Given the description of an element on the screen output the (x, y) to click on. 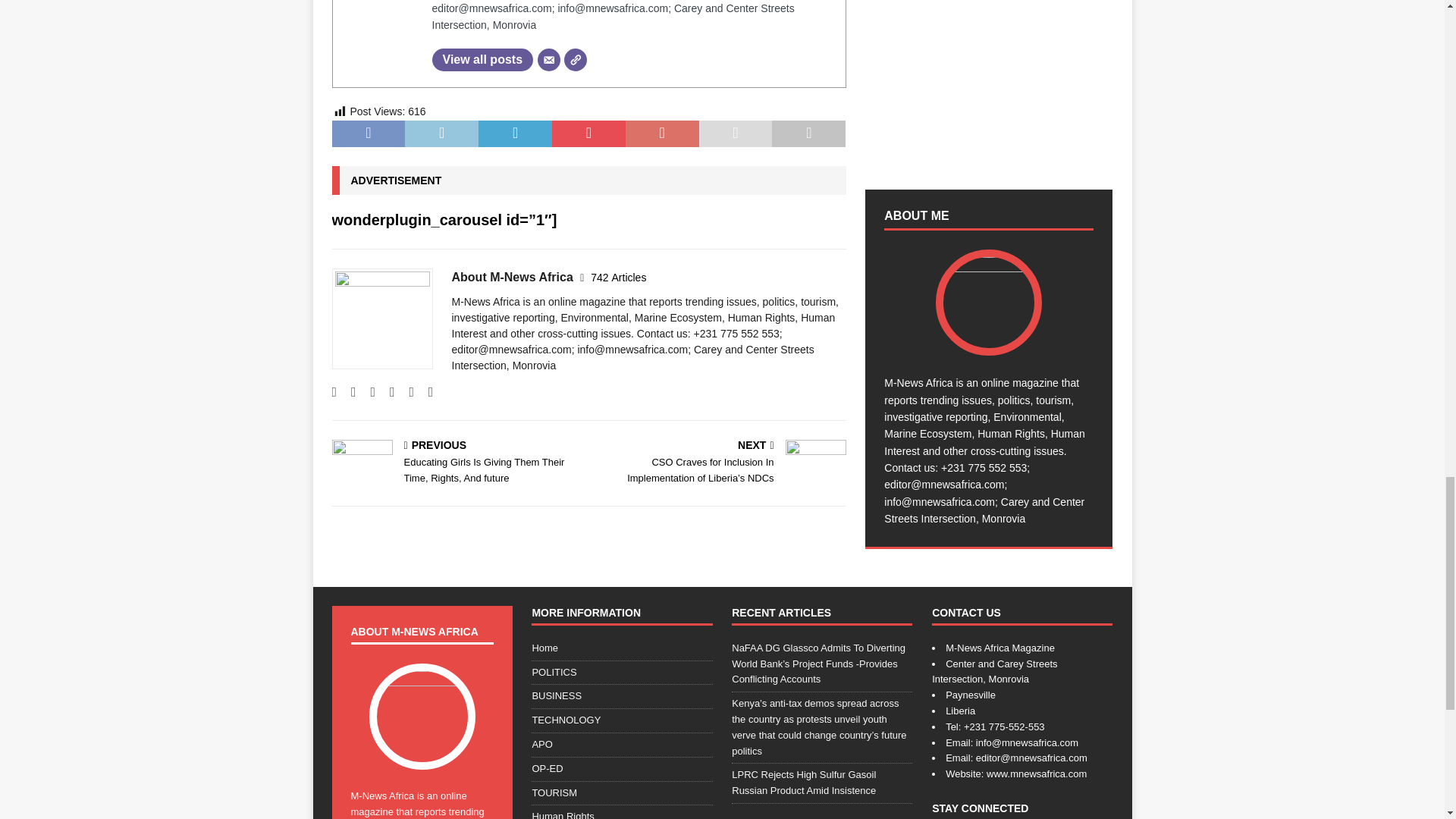
View all posts (483, 59)
